Given the description of an element on the screen output the (x, y) to click on. 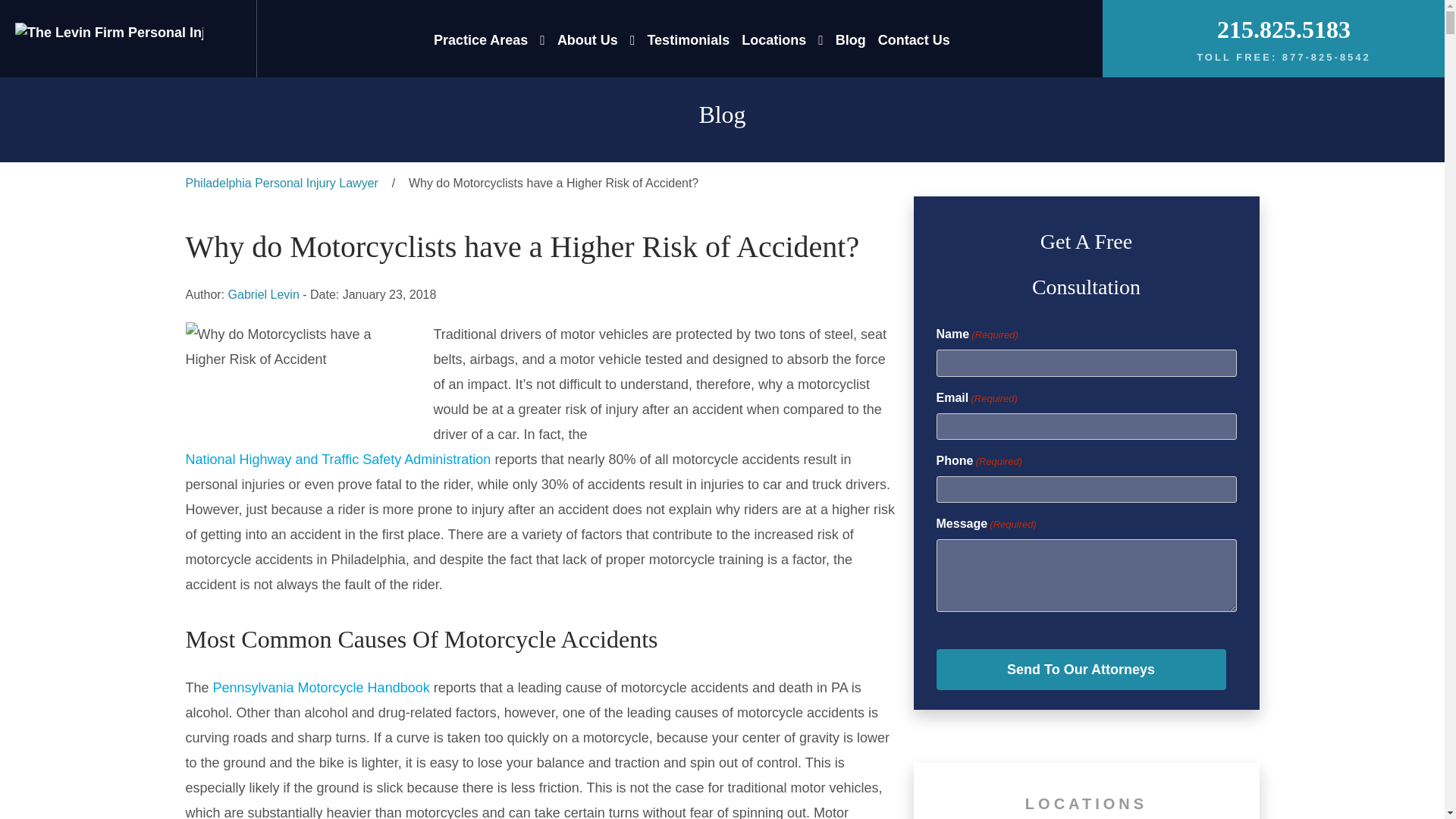
Locations (773, 40)
National Highway and Traffic Safety Administration (337, 459)
Locations (773, 40)
Contact Us (913, 40)
Philadelphia Personal Injury Lawyer (280, 183)
Gabriel Levin (263, 294)
Pennsylvania Motorcycle Handbook (320, 688)
Testimonials (687, 40)
215.825.5183 (1284, 29)
Practice Areas (480, 40)
